Given the description of an element on the screen output the (x, y) to click on. 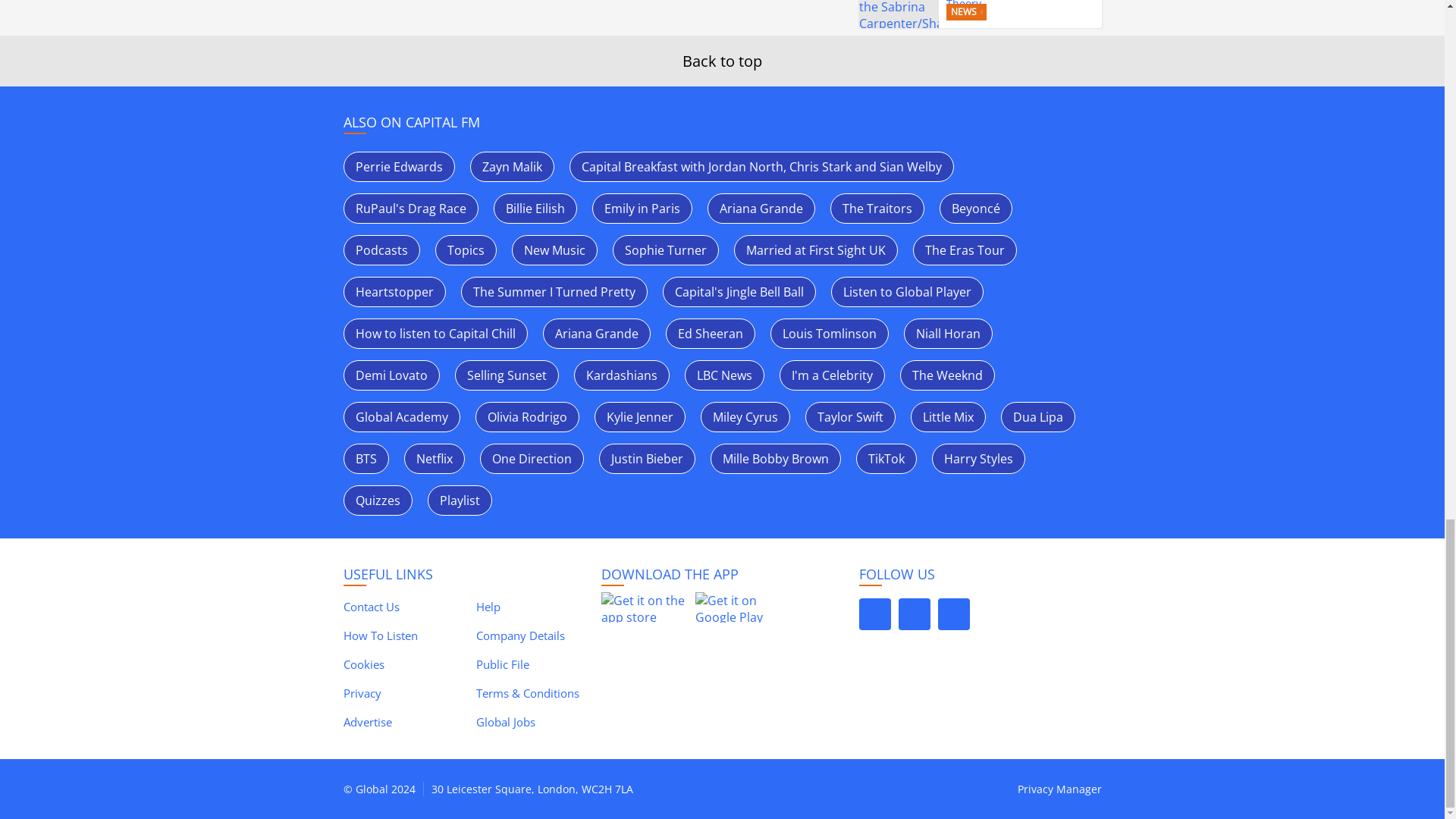
Follow Capital on Facebook (874, 613)
Follow Capital on Instagram (914, 613)
Follow Capital on Youtube (953, 613)
Back to top (721, 60)
